Given the description of an element on the screen output the (x, y) to click on. 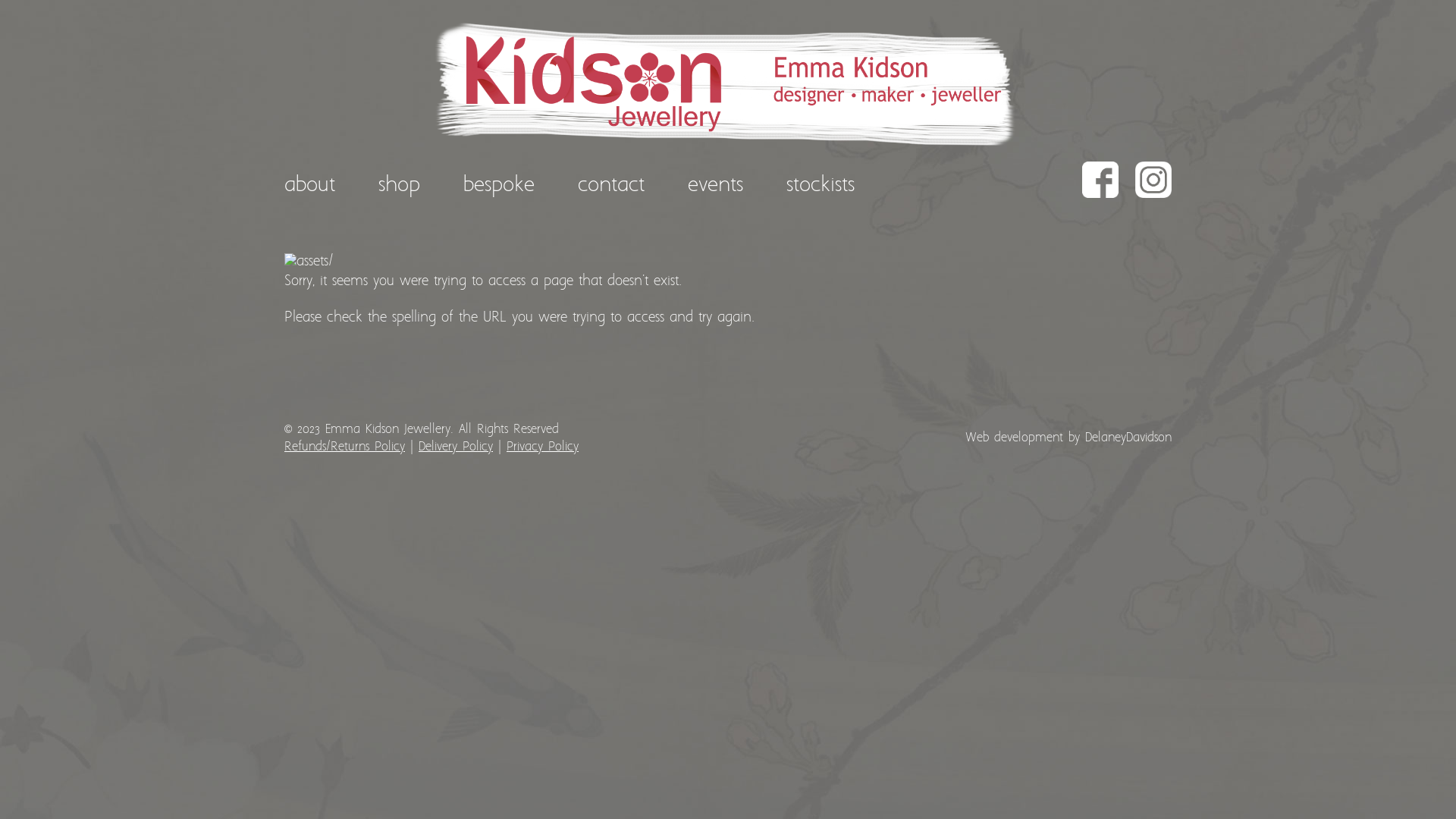
about Element type: text (319, 185)
Delivery Policy Element type: text (455, 446)
Web development by DelaneyDavidson Element type: text (1068, 437)
shop Element type: text (399, 185)
Privacy Policy Element type: text (542, 446)
contact Element type: text (610, 185)
stockists Element type: text (820, 185)
events Element type: text (715, 185)
Refunds/Returns Policy Element type: text (344, 446)
bespoke Element type: text (498, 185)
